Given the description of an element on the screen output the (x, y) to click on. 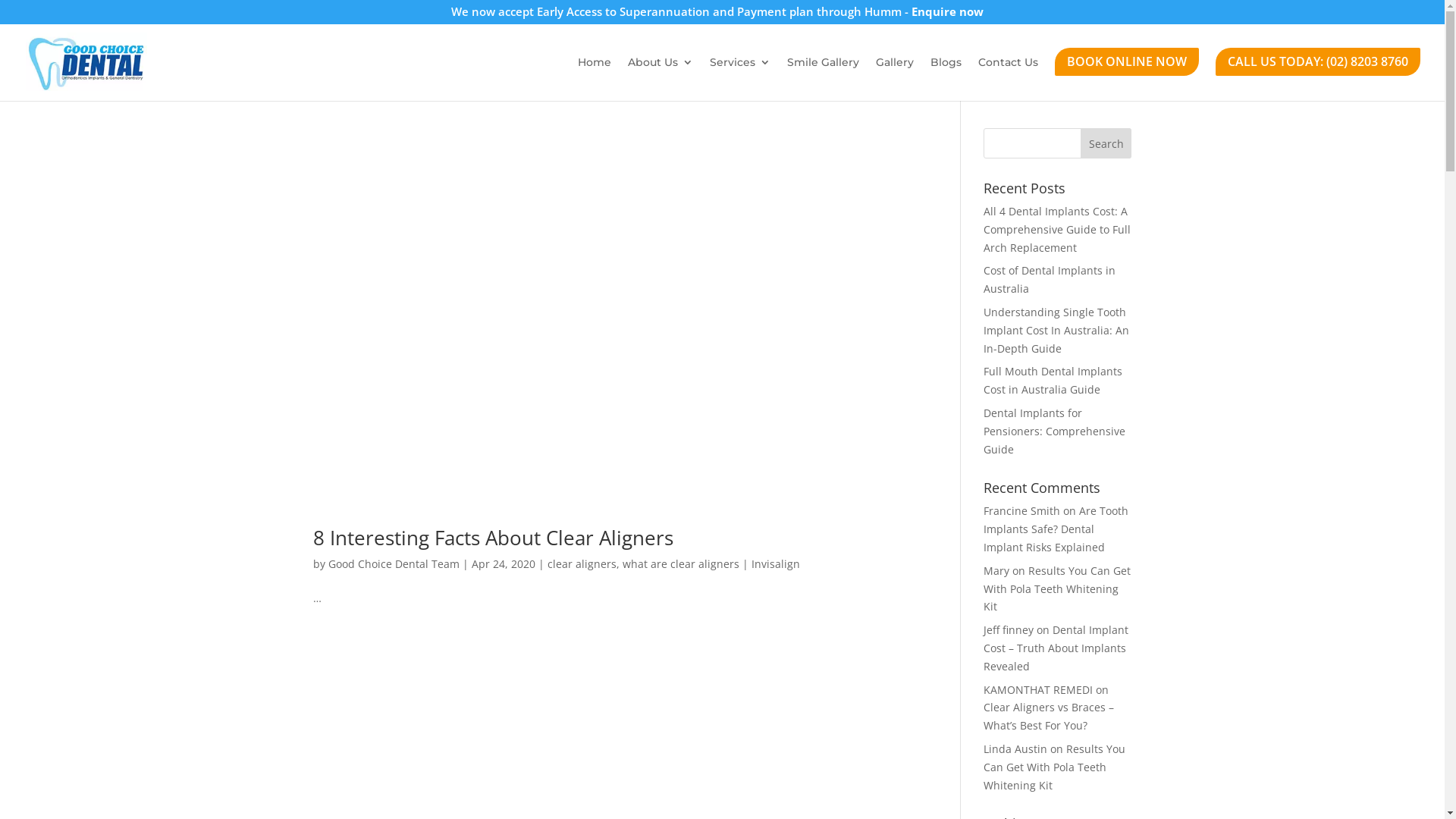
CALL US TODAY: (02) 8203 8760 Element type: text (1317, 73)
About Us Element type: text (660, 74)
Gallery Element type: text (894, 74)
Contact Us Element type: text (1008, 74)
Services Element type: text (739, 74)
Dental Implants for Pensioners: Comprehensive Guide Element type: text (1054, 430)
Results You Can Get With Pola Teeth Whitening Kit Element type: text (1056, 588)
clear aligners Element type: text (581, 563)
Enquire now Element type: text (947, 10)
8 Interesting Facts About Clear Aligners Element type: text (492, 537)
Full Mouth Dental Implants Cost in Australia Guide Element type: text (1052, 380)
Are Tooth Implants Safe? Dental Implant Risks Explained Element type: text (1055, 528)
Cost of Dental Implants in Australia Element type: text (1049, 279)
Home Element type: text (594, 74)
Results You Can Get With Pola Teeth Whitening Kit Element type: text (1054, 766)
Blogs Element type: text (945, 74)
what are clear aligners Element type: text (679, 563)
BOOK ONLINE NOW Element type: text (1126, 73)
Smile Gallery Element type: text (823, 74)
Invisalign Element type: text (774, 563)
Search Element type: text (1106, 143)
Good Choice Dental Team Element type: text (392, 563)
